Given the description of an element on the screen output the (x, y) to click on. 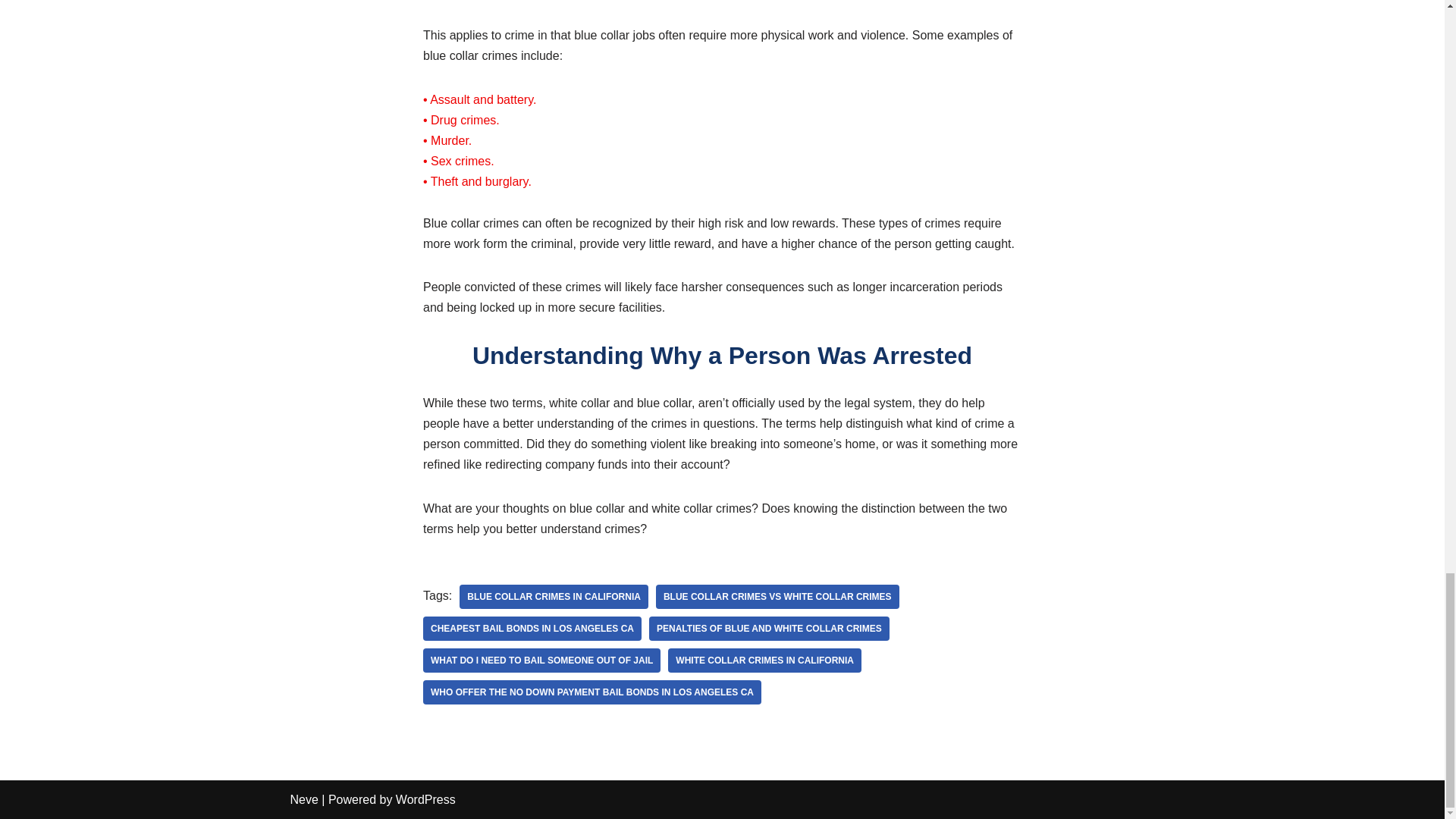
CHEAPEST BAIL BONDS IN LOS ANGELES CA (532, 628)
WordPress (425, 799)
BLUE COLLAR CRIMES VS WHITE COLLAR CRIMES (777, 596)
blue collar crimes vs white collar crimes (777, 596)
Neve (303, 799)
WHAT DO I NEED TO BAIL SOMEONE OUT OF JAIL (542, 660)
cheapest bail bonds in los angeles CA (532, 628)
who offer the no down payment bail bonds in los angeles ca (592, 692)
BLUE COLLAR CRIMES IN CALIFORNIA (553, 596)
WHITE COLLAR CRIMES IN CALIFORNIA (764, 660)
what do I need to bail someone out of jail (542, 660)
PENALTIES OF BLUE AND WHITE COLLAR CRIMES (769, 628)
WHO OFFER THE NO DOWN PAYMENT BAIL BONDS IN LOS ANGELES CA (592, 692)
white collar crimes in california (764, 660)
blue collar crimes in california (553, 596)
